Given the description of an element on the screen output the (x, y) to click on. 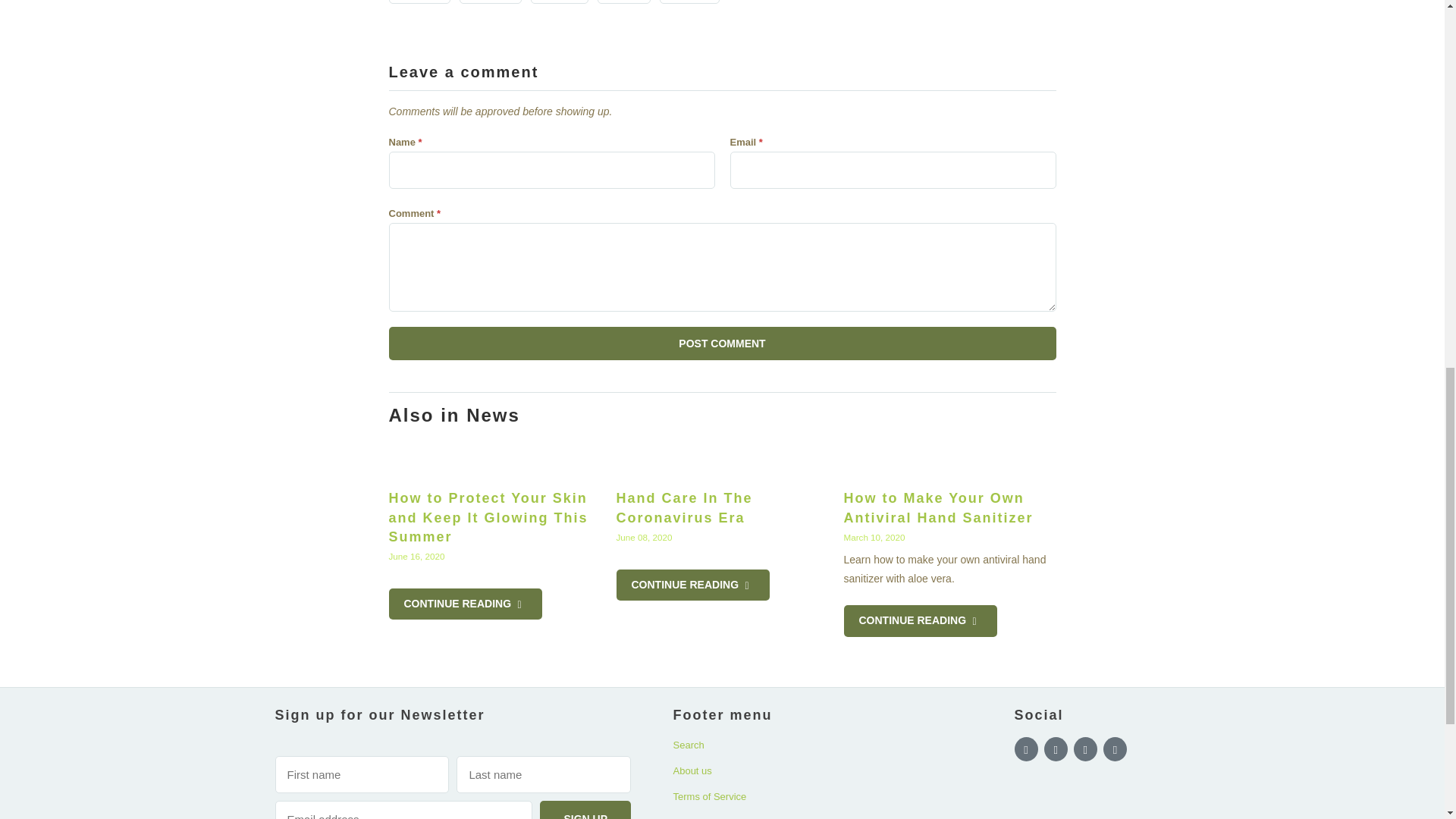
How to Protect Your Skin and Keep It Glowing This Summer (464, 603)
Share this on Twitter (418, 2)
Email this to a friend (689, 2)
Share this on Pinterest (560, 2)
How to Protect Your Skin and Keep It Glowing This Summer (488, 516)
Post comment (721, 343)
Hand Care In The Coronavirus Era (721, 458)
Share this on Facebook (490, 2)
How to Protect Your Skin and Keep It Glowing This Summer (493, 458)
Sign Up (585, 809)
